Given the description of an element on the screen output the (x, y) to click on. 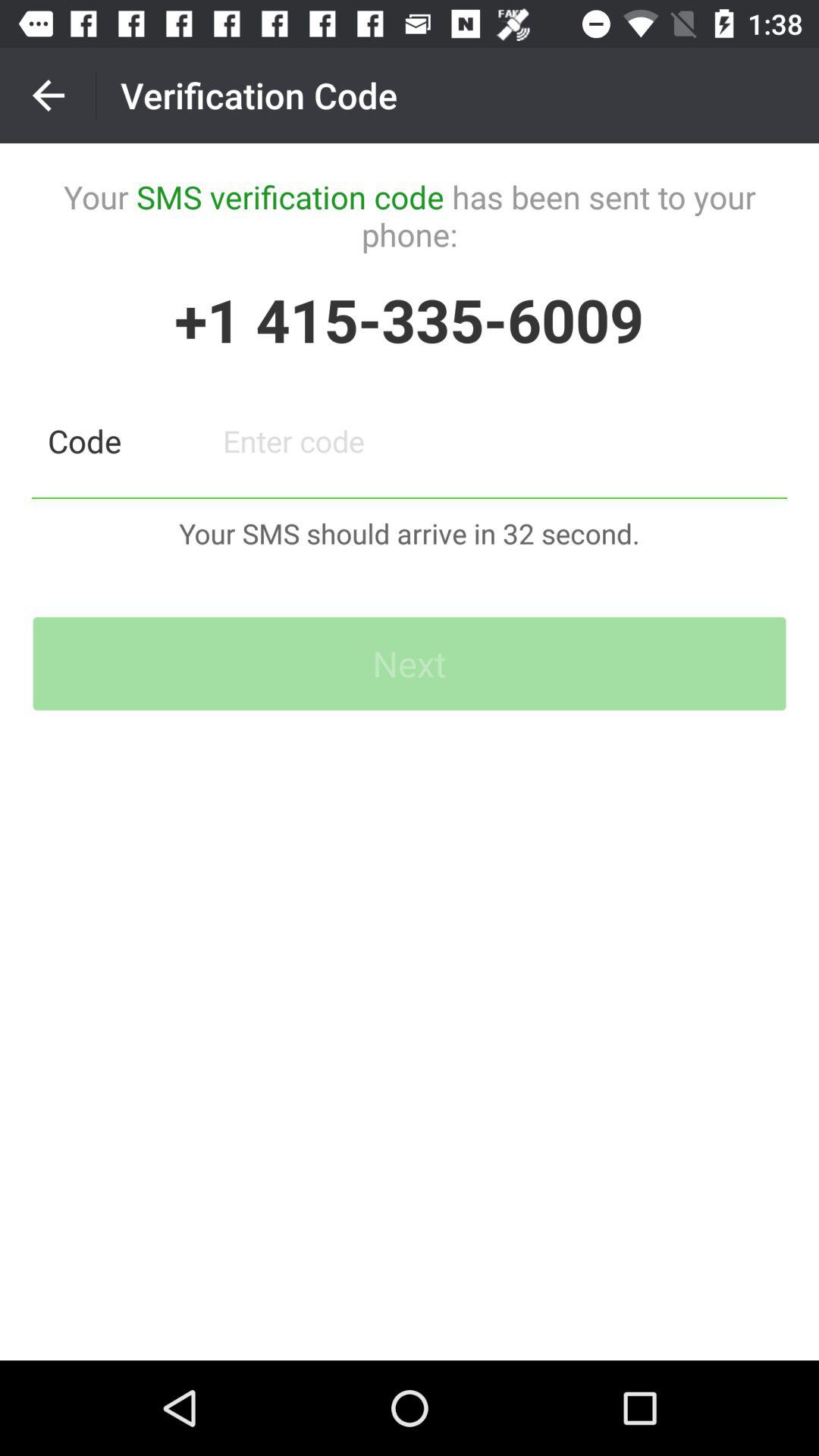
type in code (496, 440)
